Given the description of an element on the screen output the (x, y) to click on. 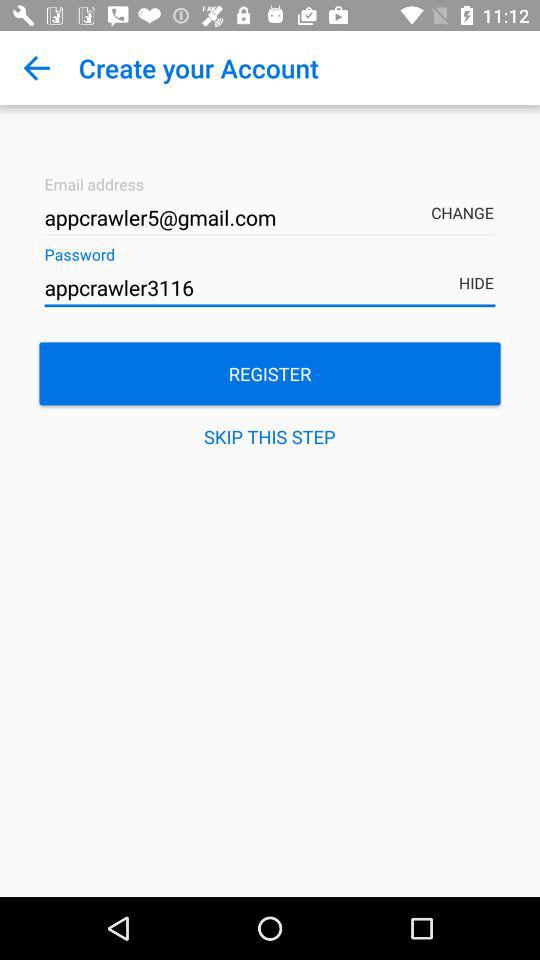
launch the skip this step icon (269, 436)
